Given the description of an element on the screen output the (x, y) to click on. 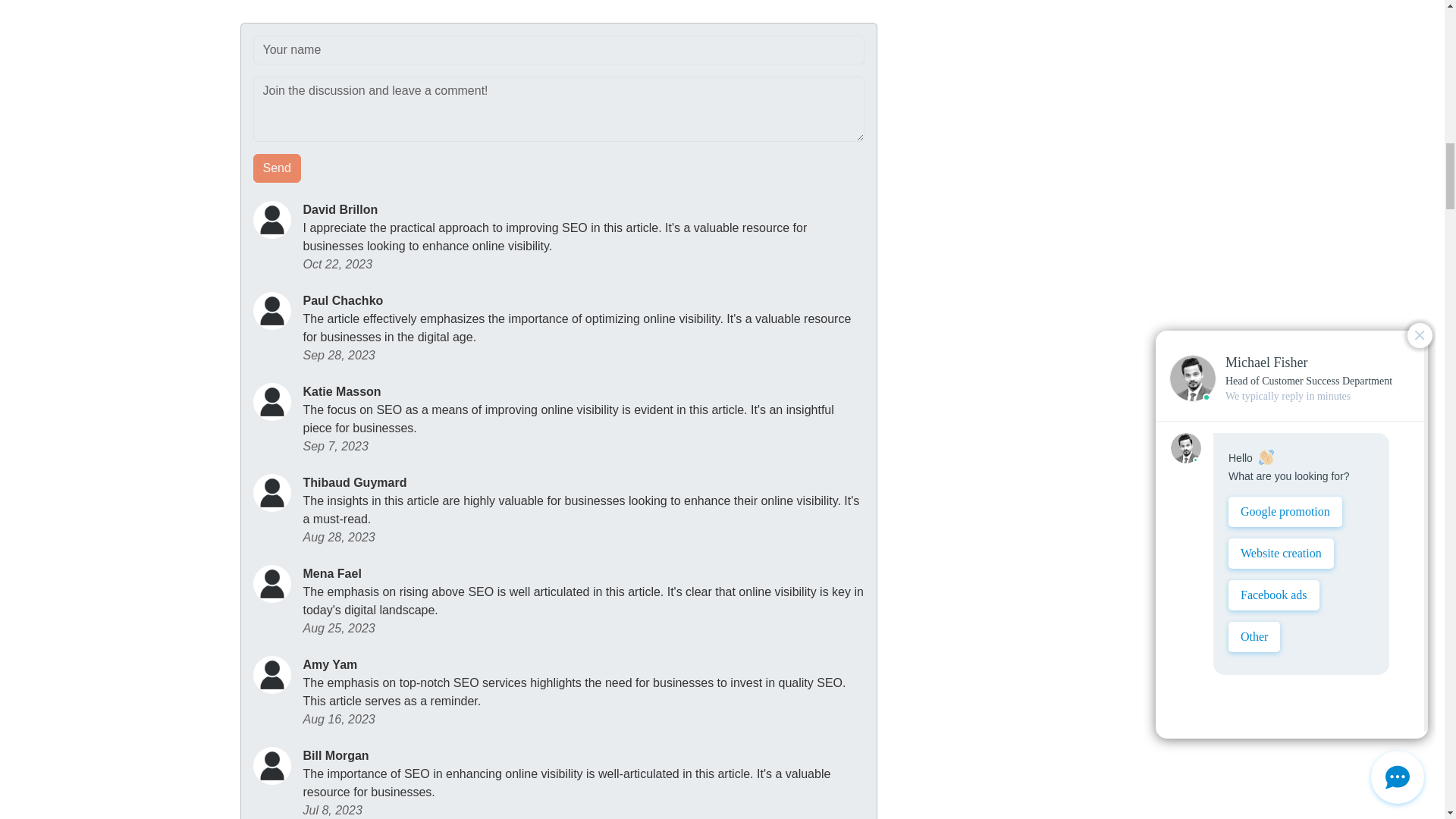
Send (277, 167)
Send (277, 167)
